Given the description of an element on the screen output the (x, y) to click on. 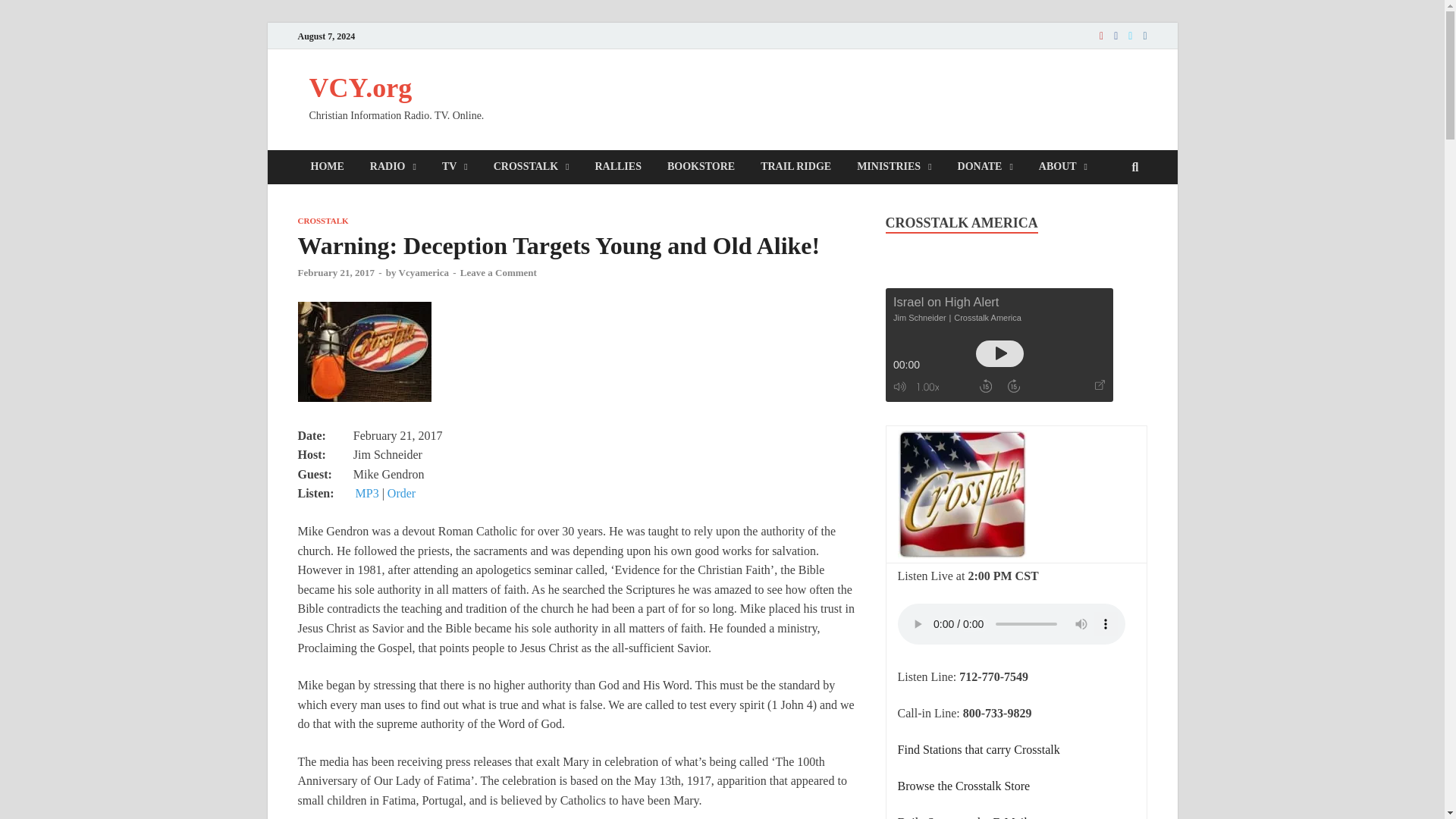
HOME (326, 166)
VCY.org (360, 87)
RADIO (392, 166)
